Given the description of an element on the screen output the (x, y) to click on. 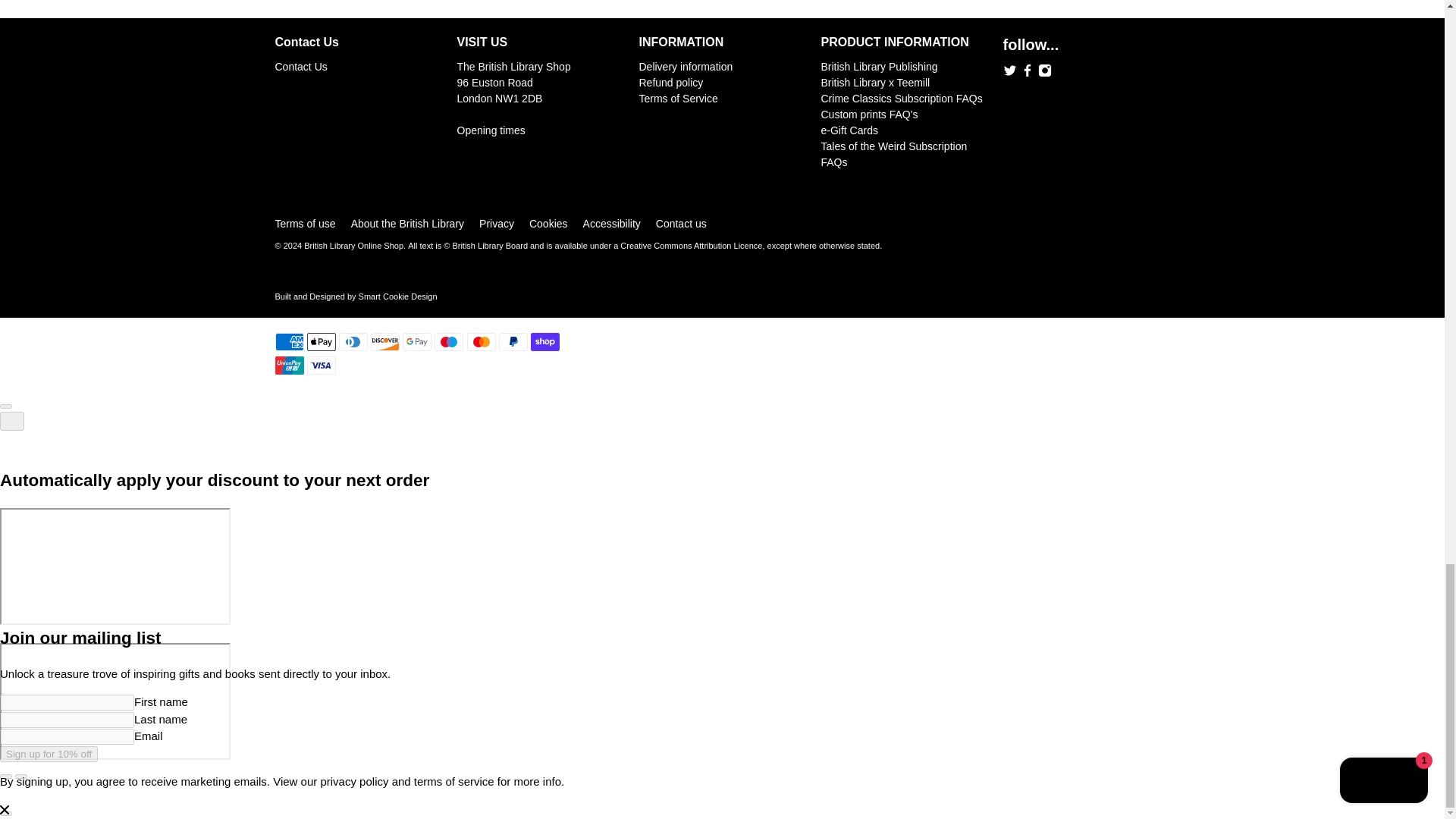
Apple Pay (321, 341)
Diners Club (353, 341)
British Library Online Shop on Instagram (1043, 73)
American Express (288, 341)
PayPal (513, 341)
Google Pay (416, 341)
Shop Pay (545, 341)
Mastercard (481, 341)
British Library Online Shop on Twitter (1009, 73)
Maestro (448, 341)
Smart Cookie Design (398, 296)
Discover (384, 341)
British Library Online Shop on Facebook (1026, 73)
Union Pay (288, 365)
